Given the description of an element on the screen output the (x, y) to click on. 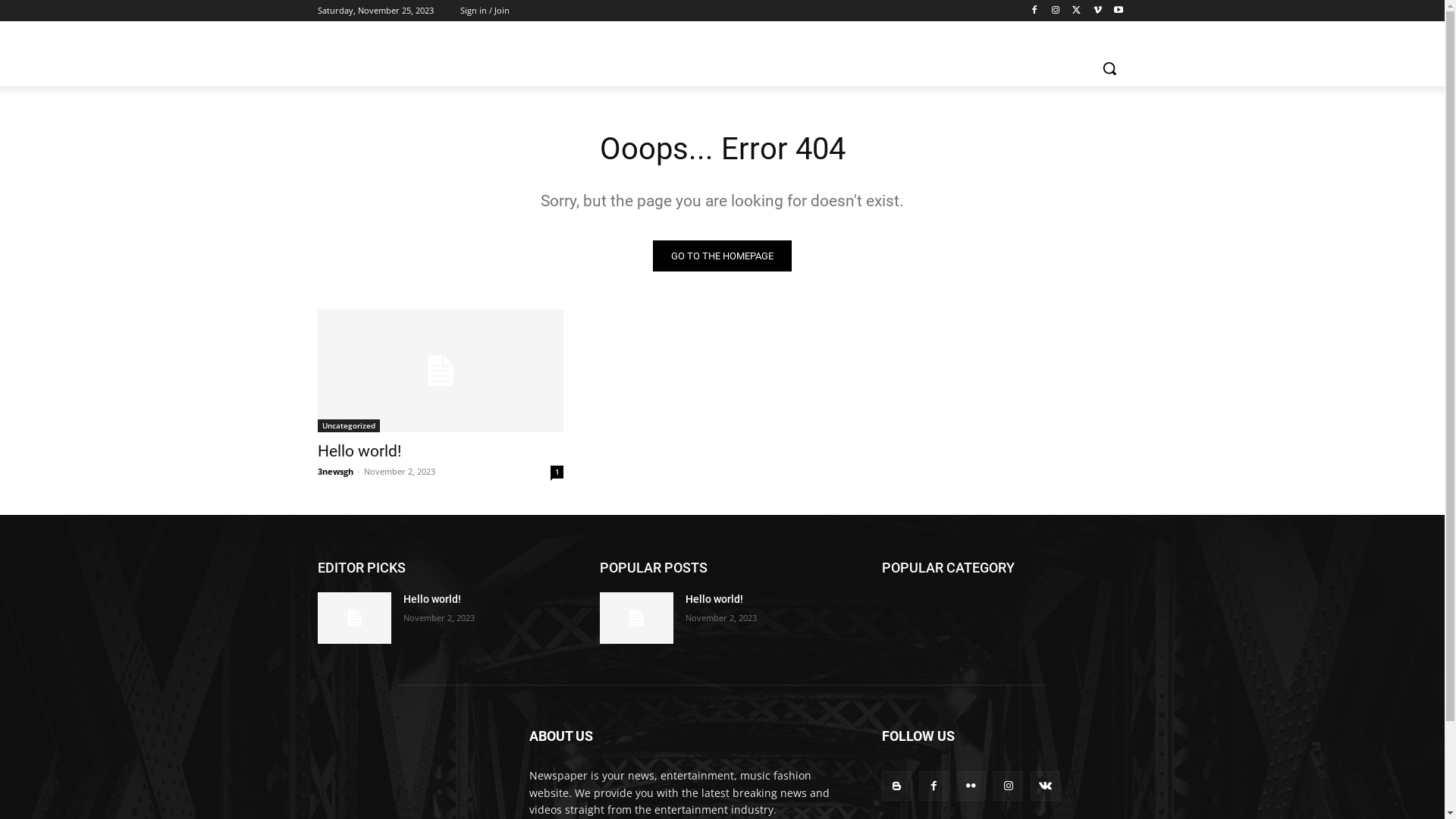
VKontakte Element type: hover (1045, 785)
Vimeo Element type: hover (1097, 9)
Blogger Element type: hover (895, 785)
Hello world! Element type: text (358, 451)
Sign in / Join Element type: text (483, 10)
Uncategorized Element type: text (347, 425)
Flickr Element type: hover (970, 785)
Instagram Element type: hover (1054, 9)
Hello world! Element type: hover (353, 617)
1 Element type: text (556, 471)
Twitter Element type: hover (1076, 9)
Facebook Element type: hover (1034, 9)
GO TO THE HOMEPAGE Element type: text (721, 255)
Facebook Element type: hover (933, 785)
Youtube Element type: hover (1118, 9)
Hello world! Element type: text (432, 599)
Hello world! Element type: hover (439, 370)
Hello world! Element type: hover (635, 617)
Hello world! Element type: text (714, 599)
Instagram Element type: hover (1007, 785)
3newsgh Element type: text (334, 470)
